Given the description of an element on the screen output the (x, y) to click on. 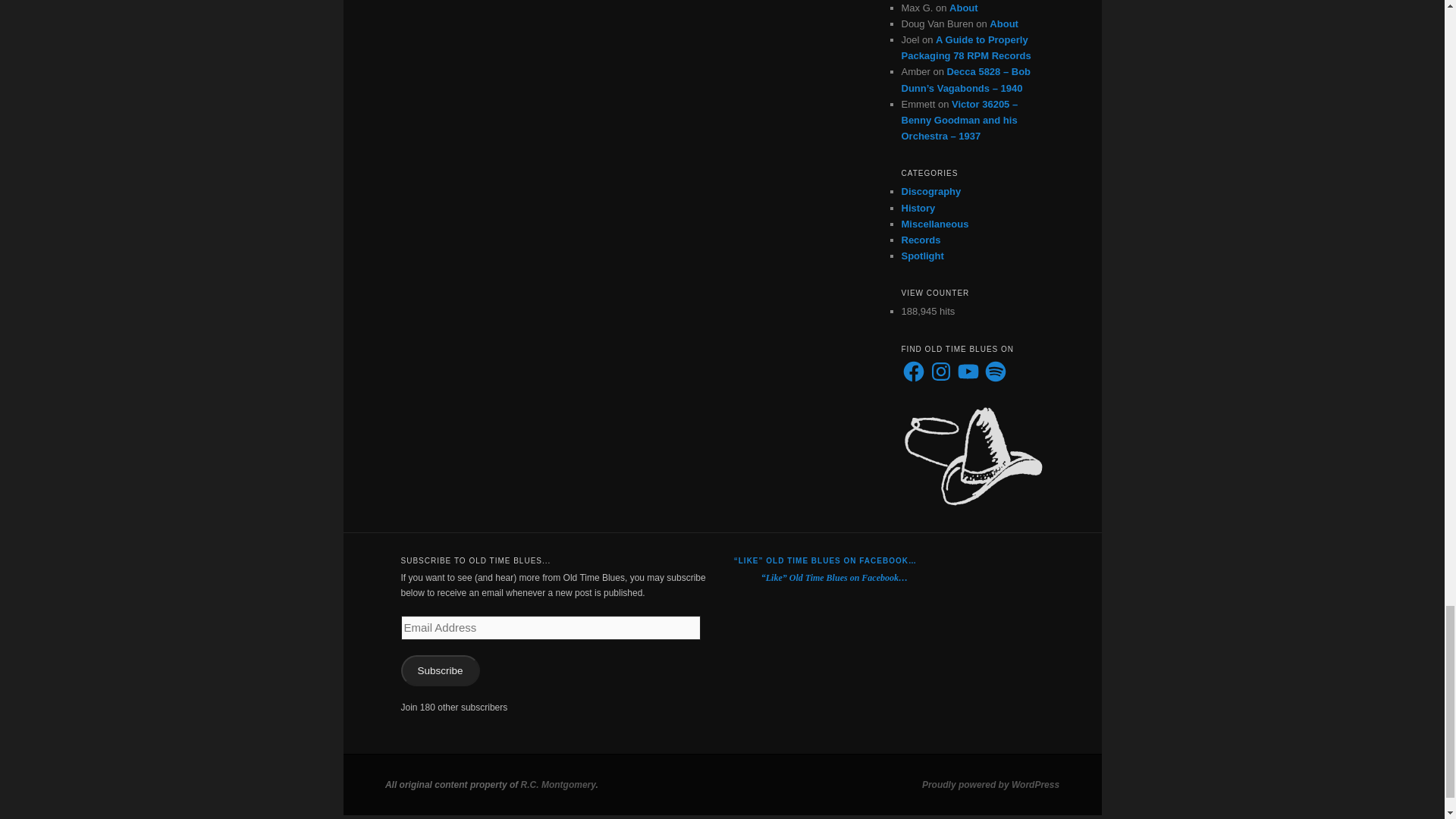
Semantic Personal Publishing Platform (990, 784)
